Given the description of an element on the screen output the (x, y) to click on. 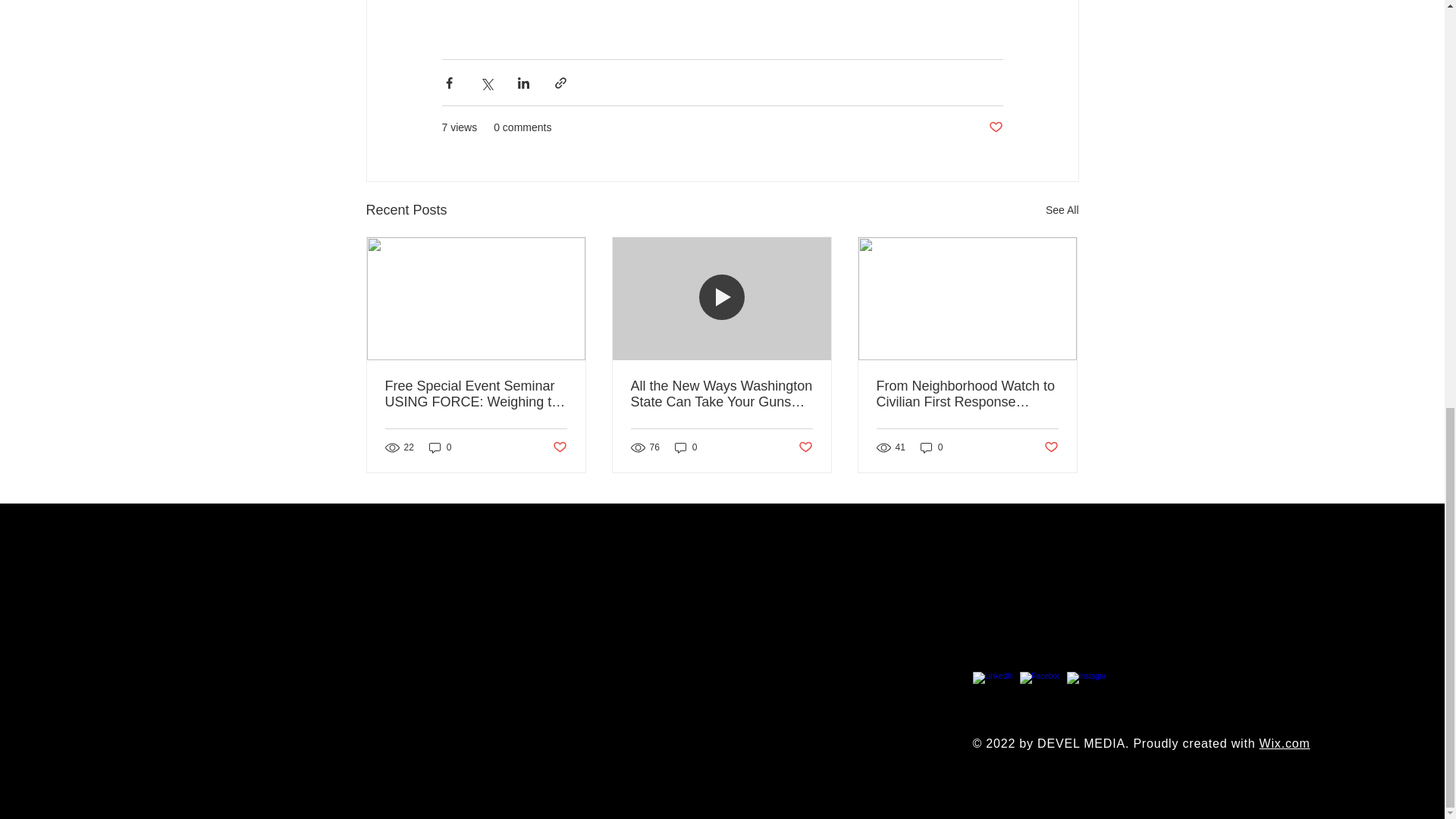
Post not marked as liked (804, 447)
Free Special Event Seminar USING FORCE: Weighing the Options (476, 394)
See All (1061, 210)
Post not marked as liked (995, 127)
0 (440, 447)
Post not marked as liked (558, 447)
Wix.com (1284, 743)
0 (685, 447)
